Given the description of an element on the screen output the (x, y) to click on. 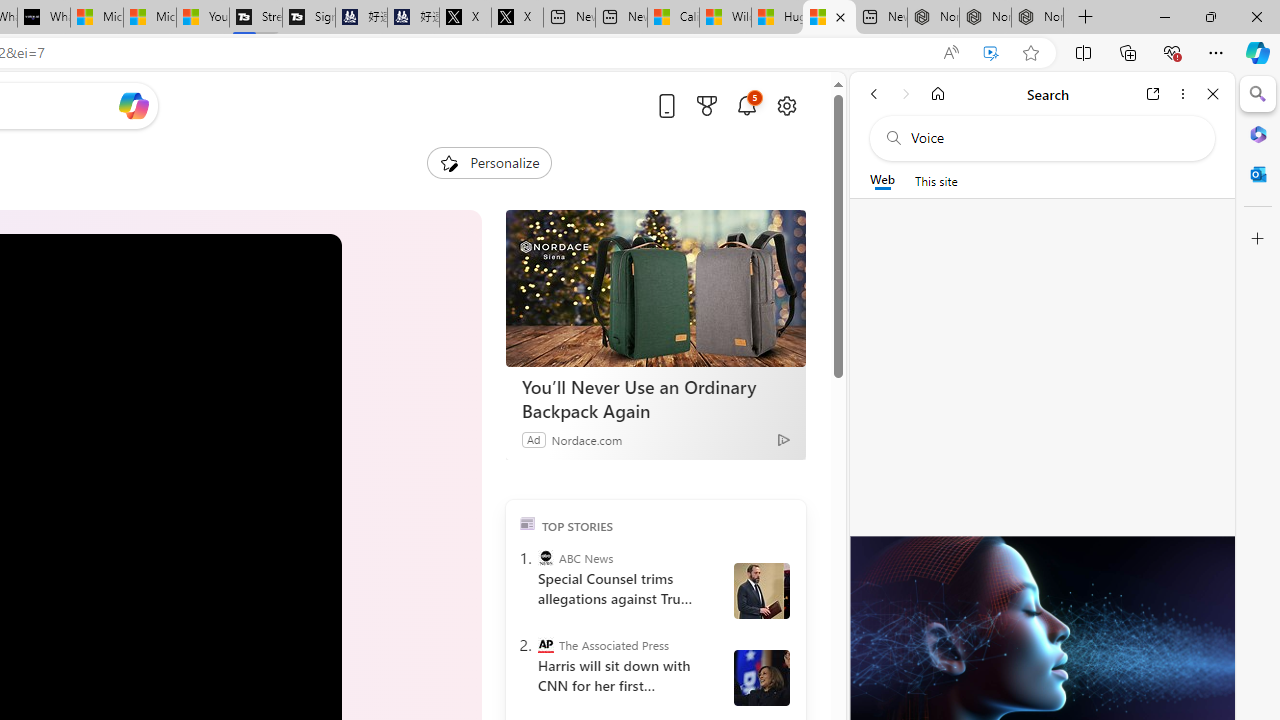
Personalize (488, 162)
Streaming Coverage | T3 (255, 17)
Forward (906, 93)
This site scope (936, 180)
Open settings (786, 105)
Notifications (746, 105)
Microsoft 365 (1258, 133)
Microsoft rewards (707, 105)
